Given the description of an element on the screen output the (x, y) to click on. 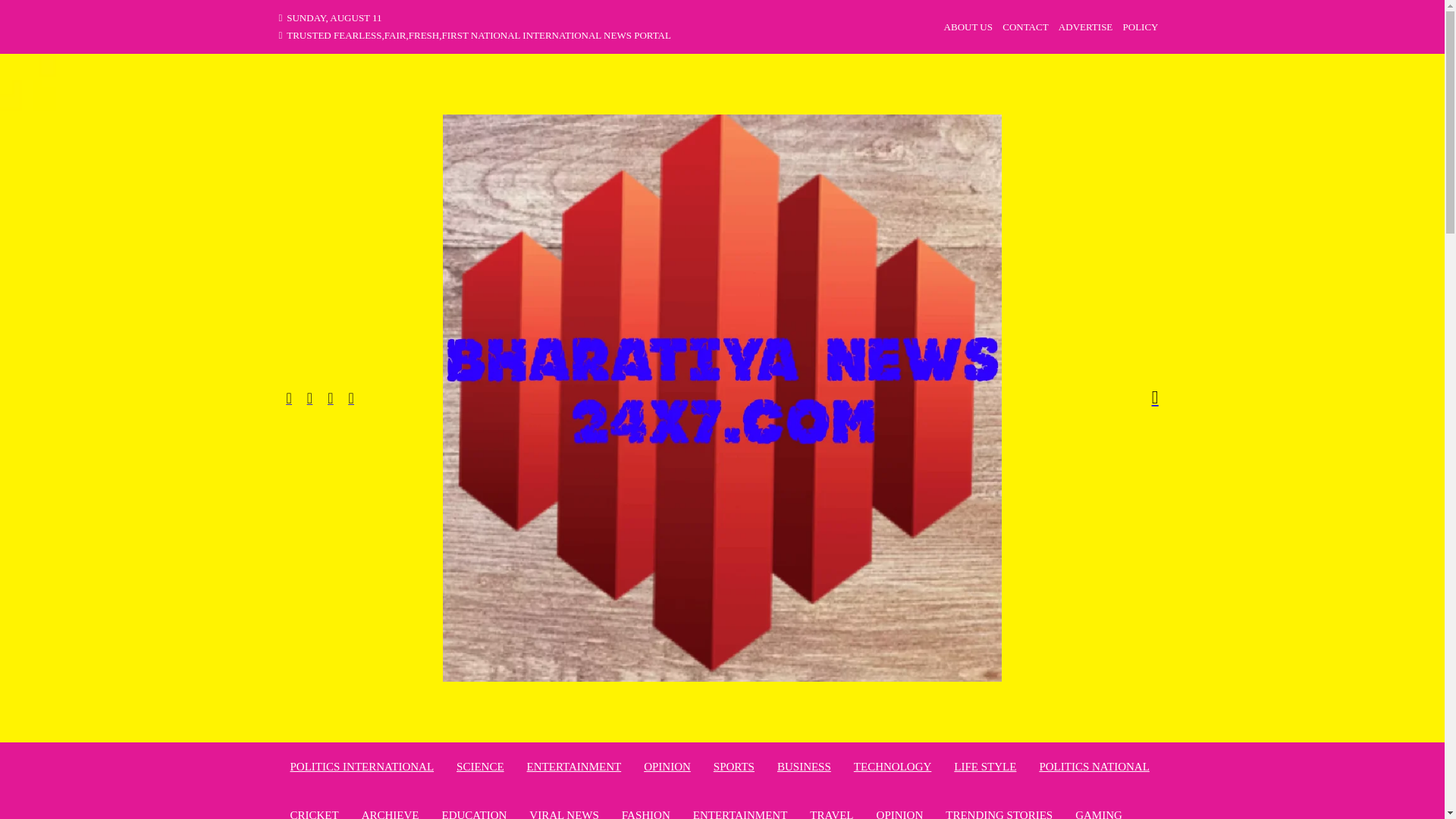
ENTERTAINMENT (574, 766)
POLITICS INTERNATIONAL (361, 766)
VIRAL NEWS (563, 811)
BUSINESS (804, 766)
OPINION (899, 811)
advertisement (1085, 26)
OPINION (666, 766)
ENTERTAINMENT (740, 811)
Education (473, 811)
SPORTS (733, 766)
